Given the description of an element on the screen output the (x, y) to click on. 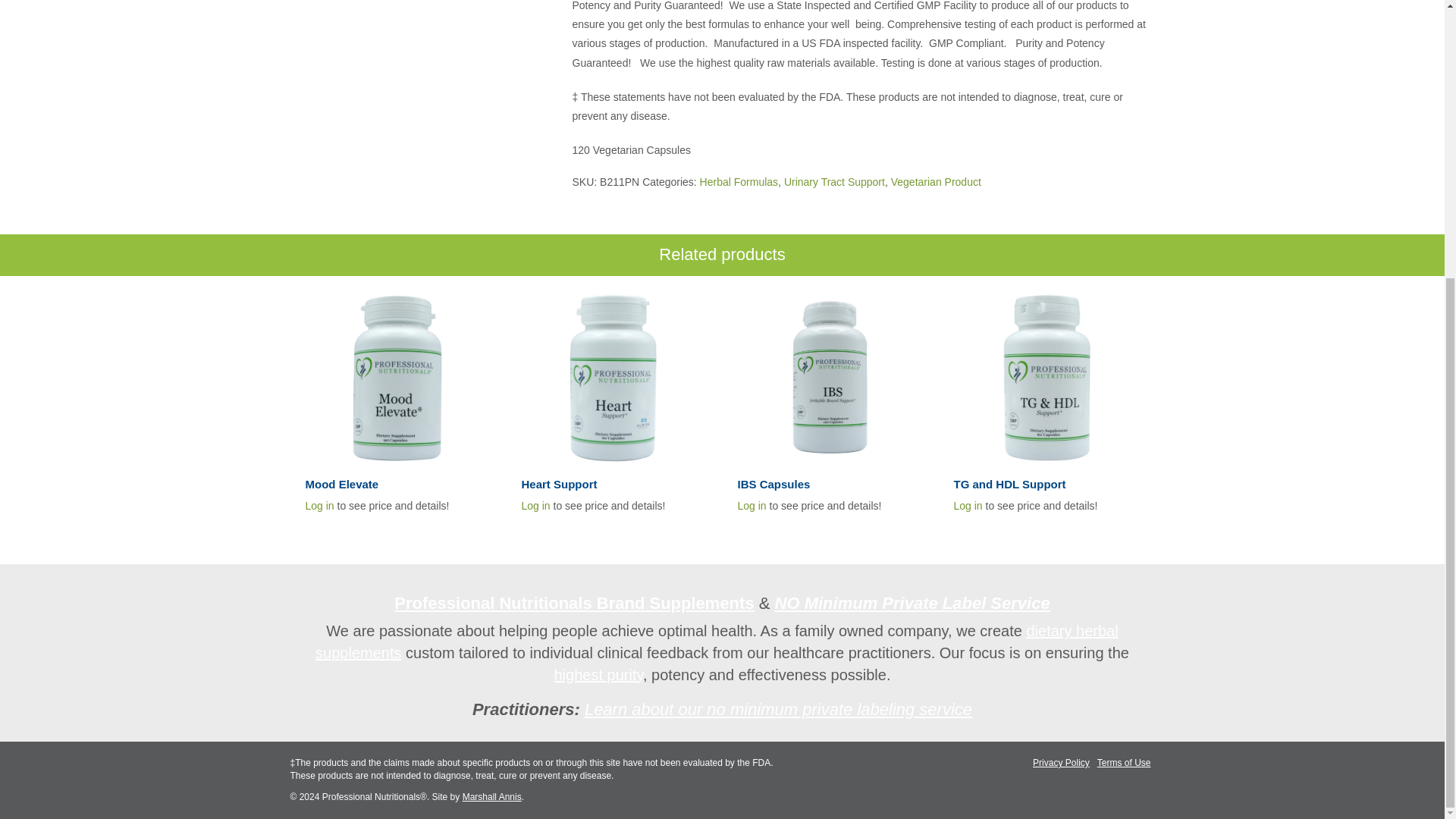
Log in (750, 505)
NO Minimum Private Label Service (911, 602)
Log in (535, 505)
Log in (967, 505)
Professional Nutritionals Brand Supplements (574, 602)
dietary herbal supplements (716, 641)
Log in (318, 505)
Herbal Formulas (738, 182)
Urinary Tract Support (834, 182)
Vegetarian Product (936, 182)
